Given the description of an element on the screen output the (x, y) to click on. 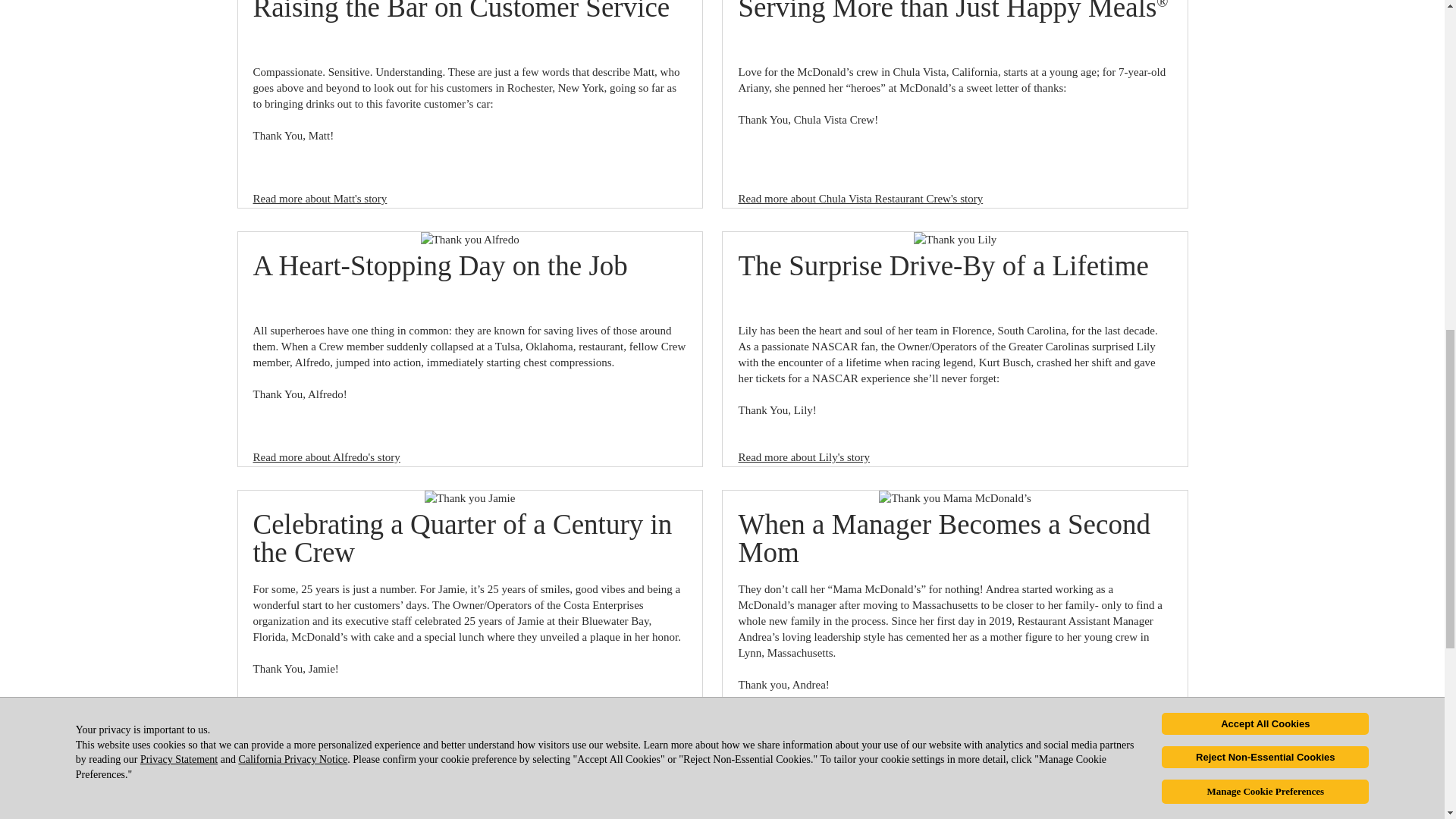
Read more about Jamie's story (323, 715)
Read more about Chula Vista Restaurant Crew's story (860, 198)
Read more about Alfredo's story (326, 457)
Read more about Andrea's story (810, 715)
Read more about Matt's story (320, 198)
Read more about Lily's story (803, 457)
